Given the description of an element on the screen output the (x, y) to click on. 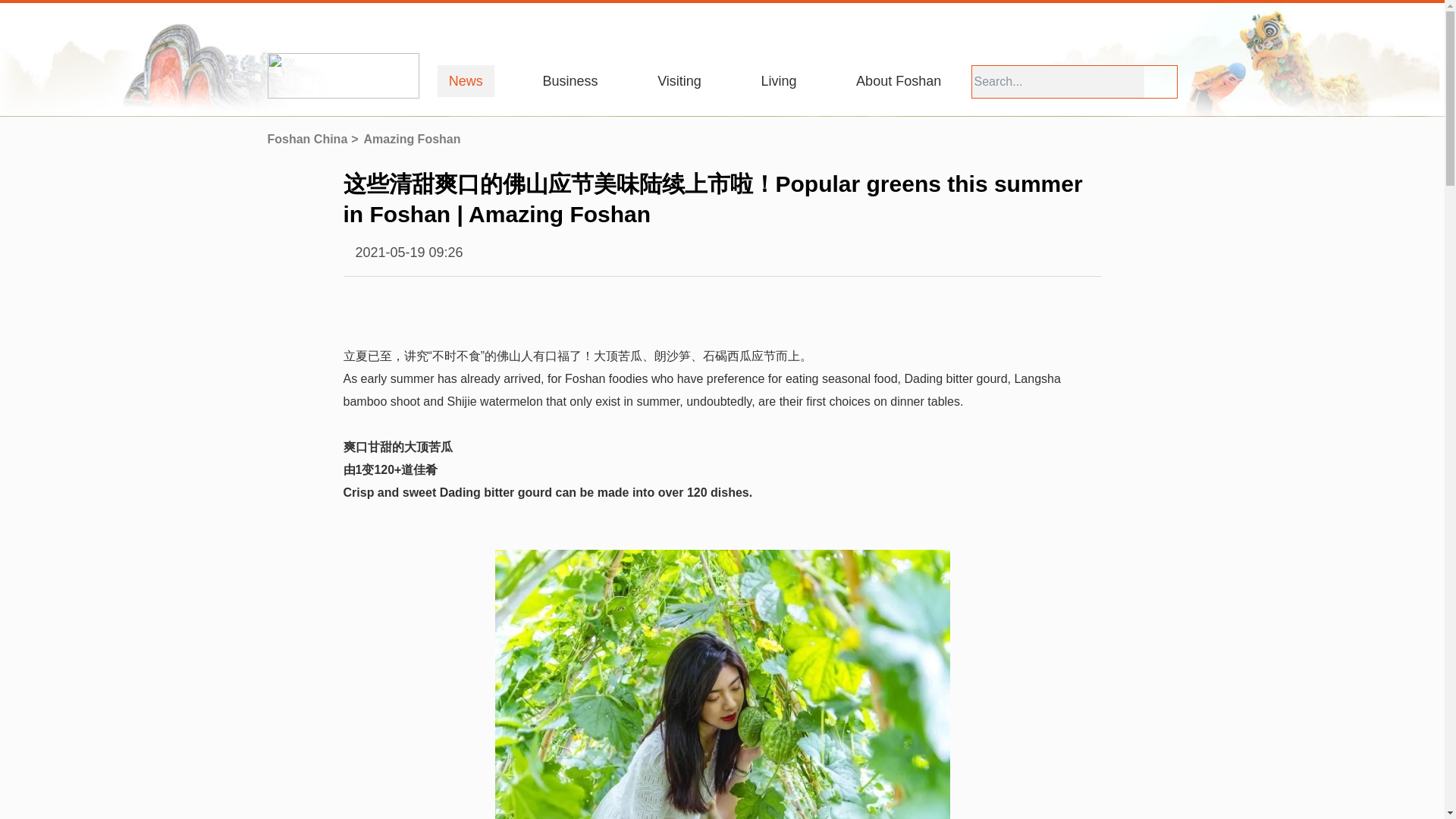
Search... (1058, 81)
Business (569, 81)
Foshan China (313, 138)
Visiting (679, 81)
News (466, 81)
Living (778, 81)
Search... (1058, 81)
Amazing Foshan (416, 138)
About Foshan (898, 81)
